Given the description of an element on the screen output the (x, y) to click on. 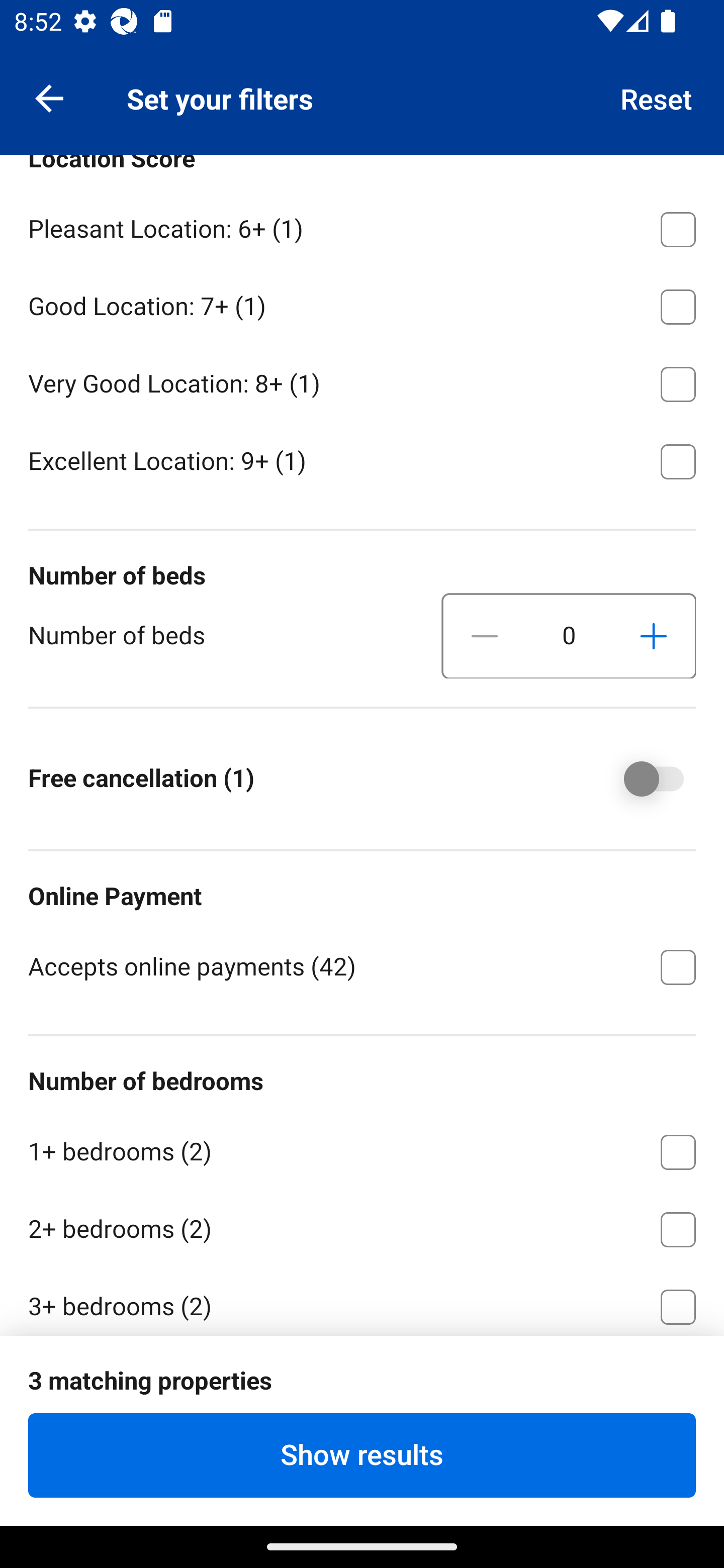
Navigate up (49, 97)
Reset (656, 97)
Pleasant Location: 6+ ⁦(1) (361, 226)
Good Location: 7+ ⁦(1) (361, 302)
Very Good Location: 8+ ⁦(1) (361, 380)
Excellent Location: 9+ ⁦(1) (361, 460)
Decrease (484, 636)
Increase (653, 636)
Free cancellation ⁦(1) (639, 778)
Accepts online payments ⁦(42) (361, 965)
1+ bedrooms ⁦(2) (361, 1148)
2+ bedrooms ⁦(2) (361, 1225)
3+ bedrooms ⁦(2) (361, 1300)
4+ bedrooms ⁦(2) (361, 1382)
Show results (361, 1454)
